Given the description of an element on the screen output the (x, y) to click on. 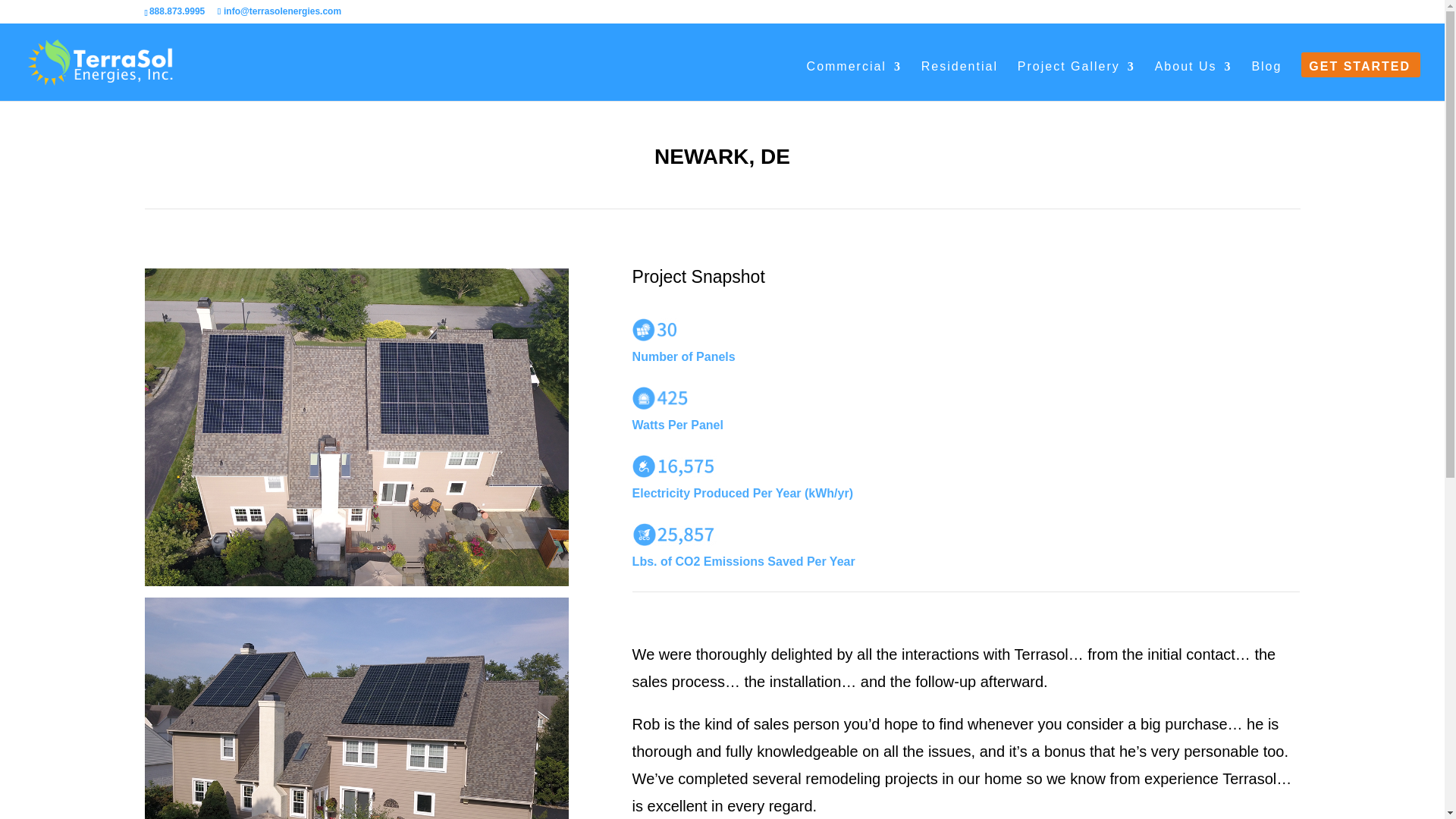
Commercial (853, 80)
25857-co2 (673, 534)
Residential (959, 80)
Project Gallery (1076, 80)
Artboard 4 copy 4Wilmington DE (656, 329)
GET STARTED (1359, 80)
About Us (1192, 80)
425-watts (659, 397)
888.873.9995 (177, 10)
